Given the description of an element on the screen output the (x, y) to click on. 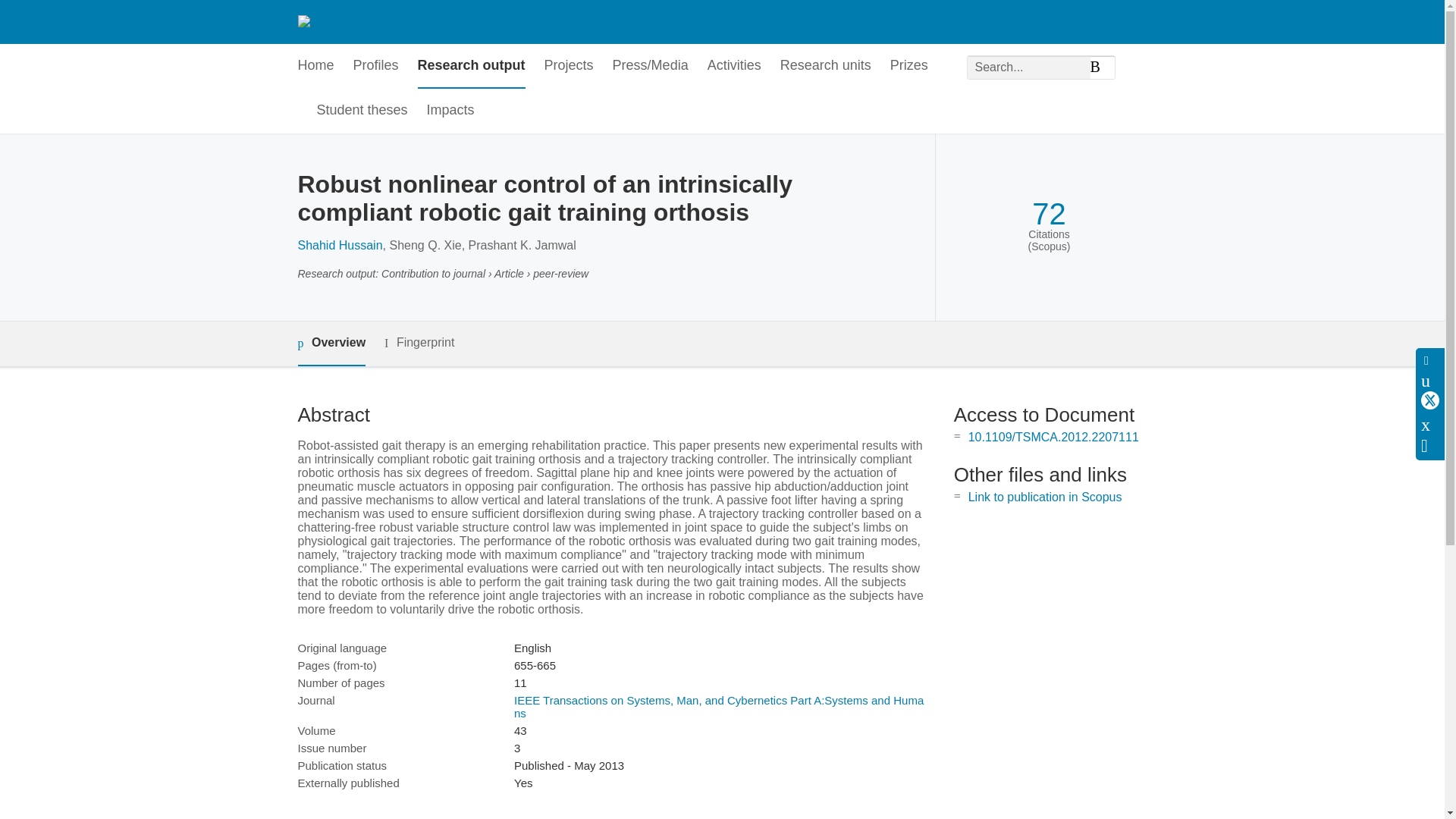
Research units (825, 66)
University of Canberra Research Portal Home (423, 21)
Impacts (450, 110)
Projects (569, 66)
Activities (734, 66)
Fingerprint (419, 342)
Research output (471, 66)
Shahid Hussain (339, 245)
